Given the description of an element on the screen output the (x, y) to click on. 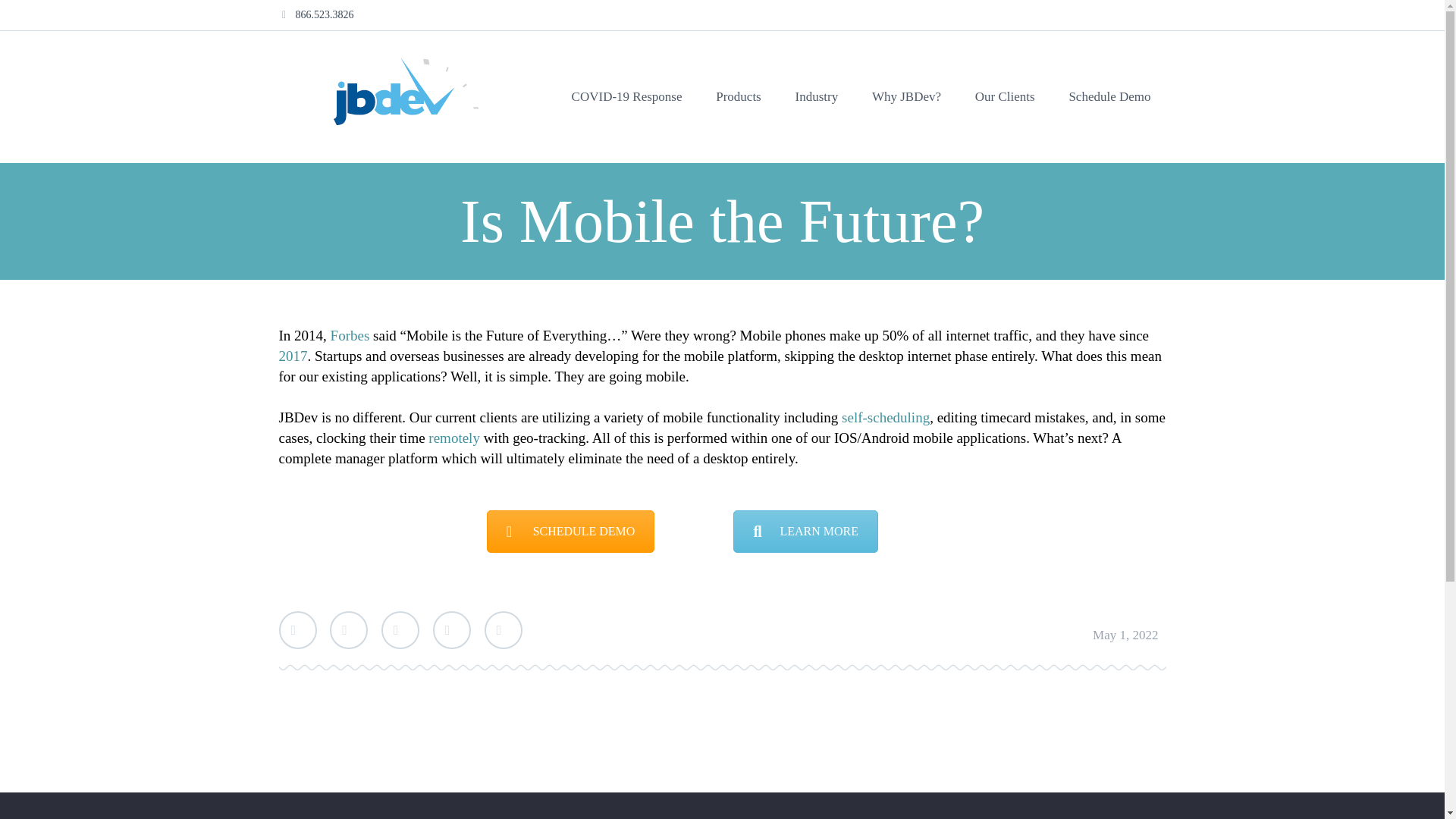
2017 (293, 355)
remotely (454, 437)
SCHEDULE DEMO (570, 531)
COVID-19 Response (626, 97)
self-scheduling (885, 417)
Google Plus (400, 629)
Google Plus (400, 629)
Twitter (298, 629)
Facebook (349, 629)
StumbleUpon (502, 629)
Products (738, 97)
StumbleUpon (502, 629)
Forbes (349, 335)
Schedule Demo (1109, 97)
Why JBDev? (906, 97)
